Given the description of an element on the screen output the (x, y) to click on. 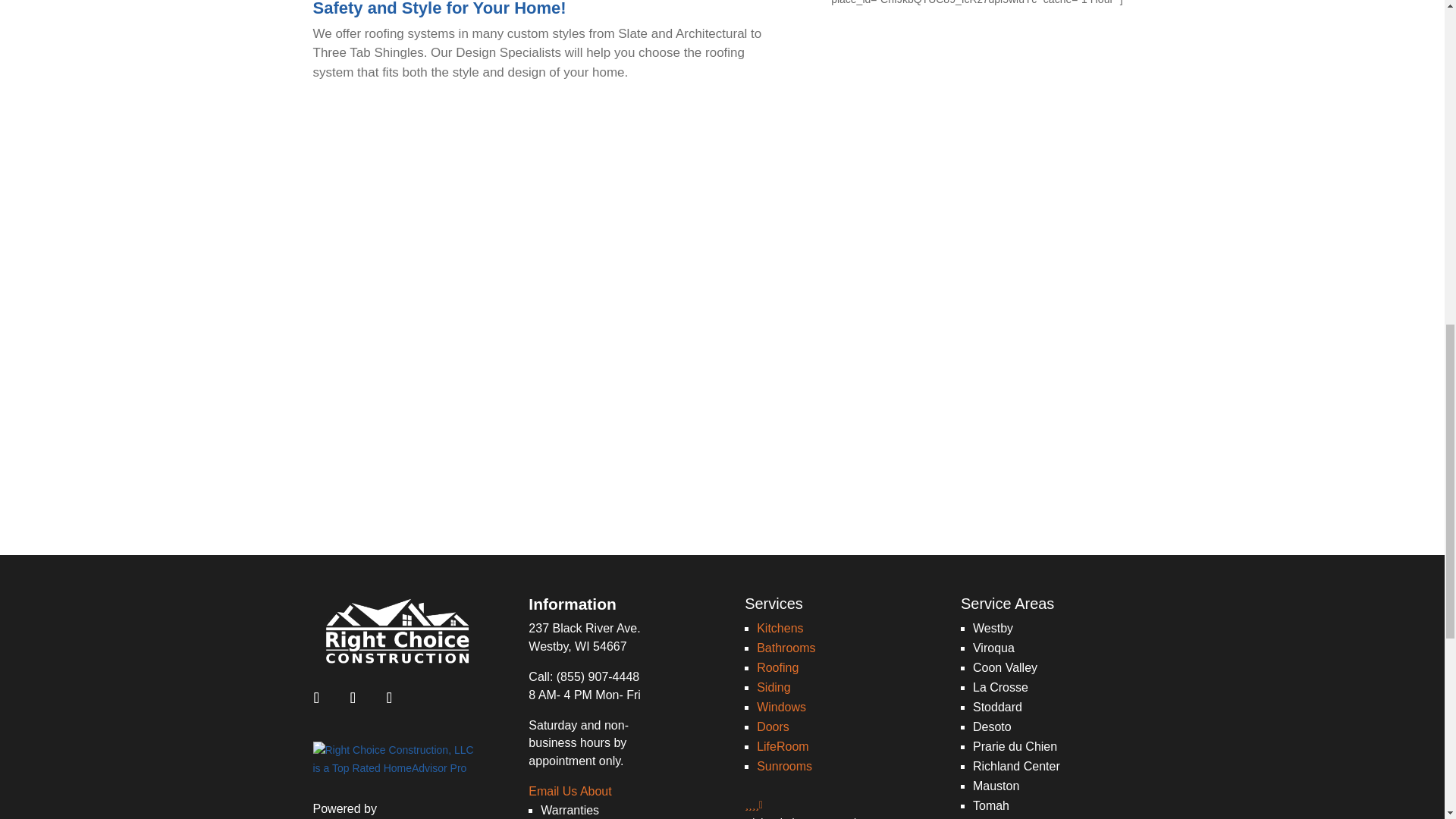
Doors (773, 726)
Windows (781, 707)
Follow on Instagram (352, 697)
Sunrooms (784, 766)
LifeRoom (782, 746)
Email Us About (569, 790)
Follow on Youtube (389, 697)
Siding (773, 686)
Bathrooms (786, 647)
Kitchens (780, 627)
Follow on Facebook (316, 697)
Roofing (777, 667)
